Given the description of an element on the screen output the (x, y) to click on. 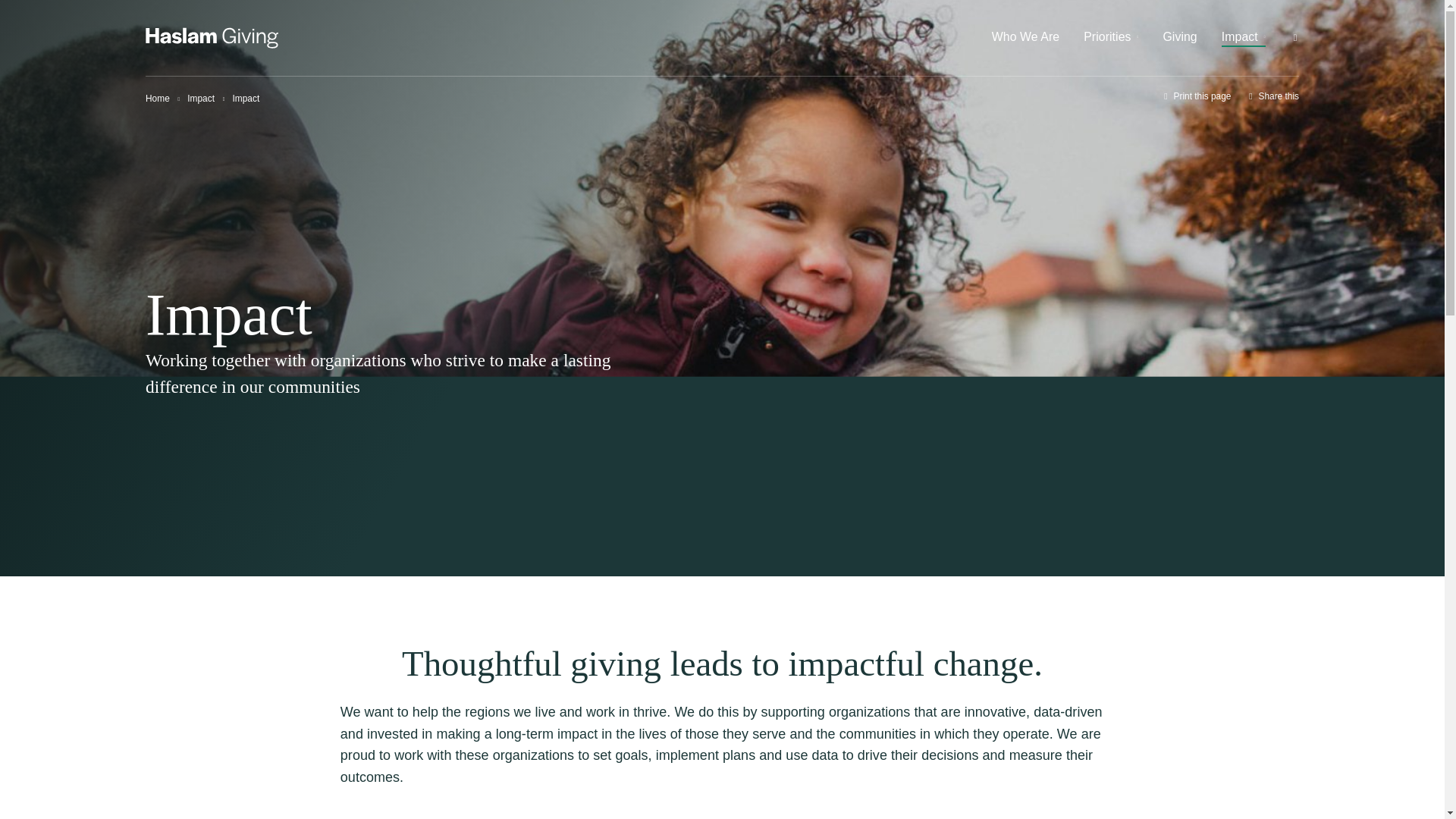
Priorites (1110, 37)
Priorities (1110, 37)
Who We Are (1025, 37)
Home (157, 98)
Impact (200, 98)
Giving (1178, 37)
Impact (1243, 37)
SEARCH (1235, 21)
Home (157, 98)
search website (1294, 37)
